Given the description of an element on the screen output the (x, y) to click on. 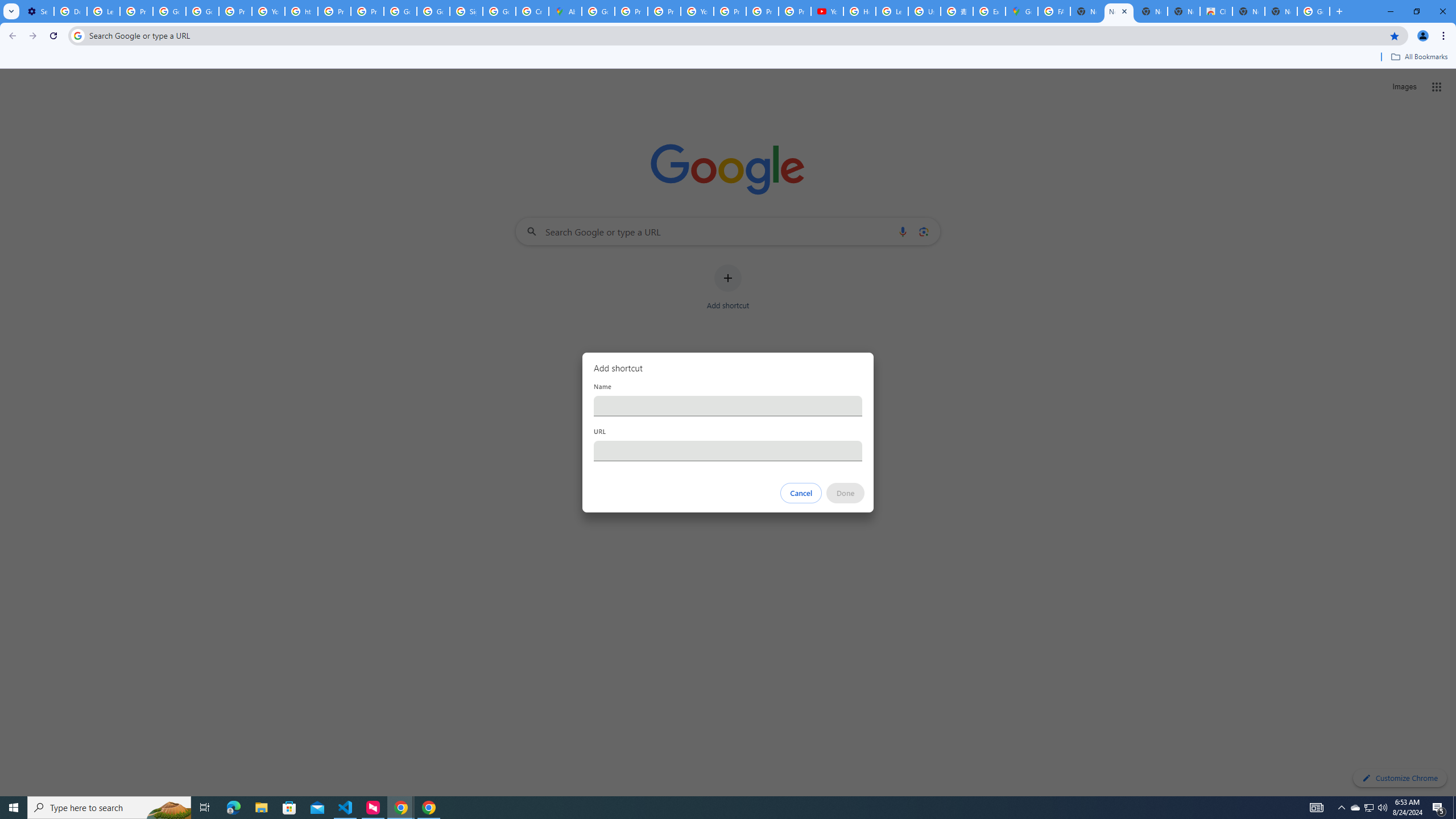
Sign in - Google Accounts (465, 11)
Settings - On startup (37, 11)
Google Images (1313, 11)
Cancel (801, 493)
Privacy Checkup (794, 11)
Name (727, 405)
Explore new street-level details - Google Maps Help (989, 11)
